Given the description of an element on the screen output the (x, y) to click on. 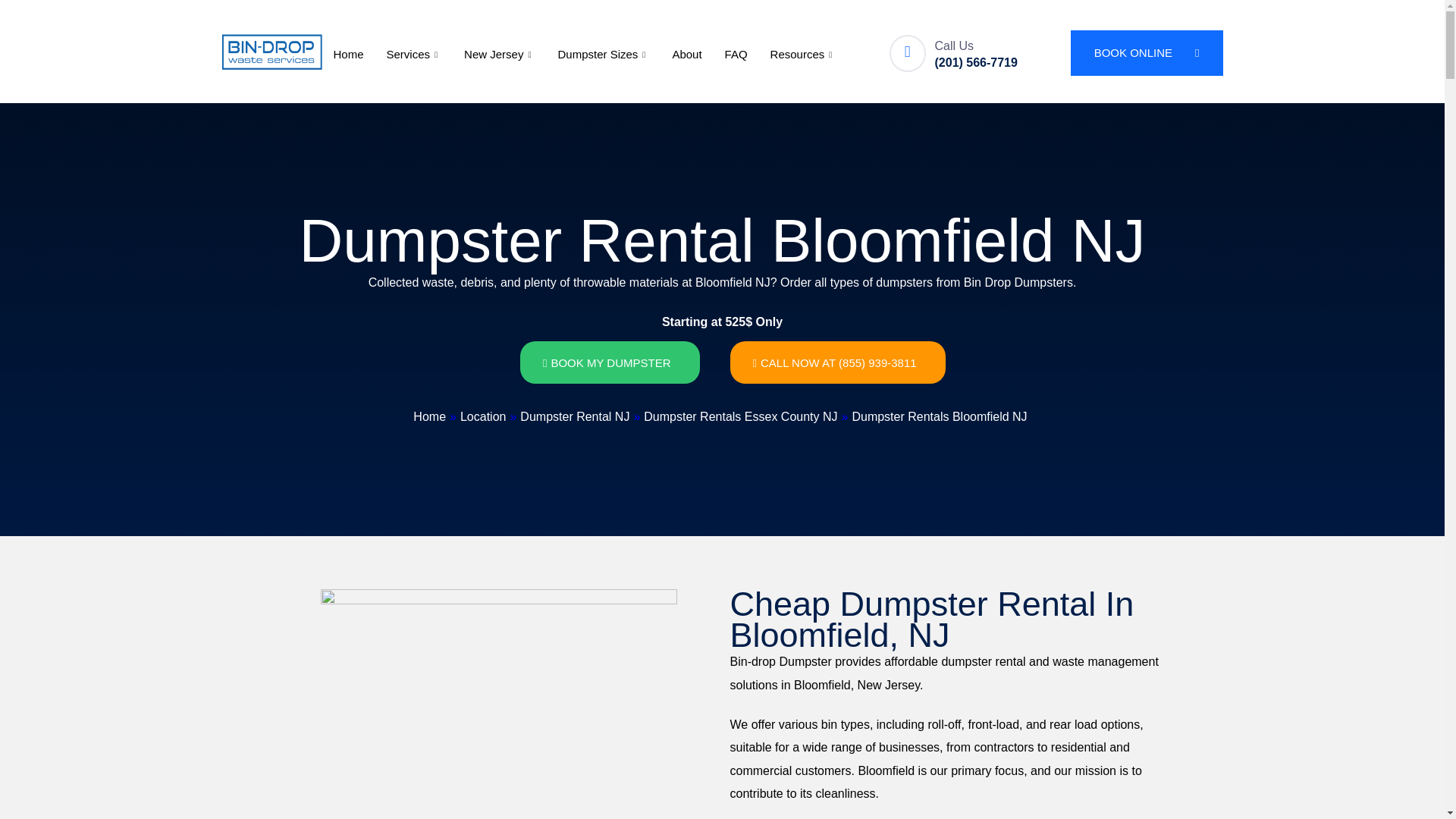
Location (483, 416)
Dumpster Rental NJ (573, 416)
Dumpster Rentals Essex County NJ (740, 416)
